Given the description of an element on the screen output the (x, y) to click on. 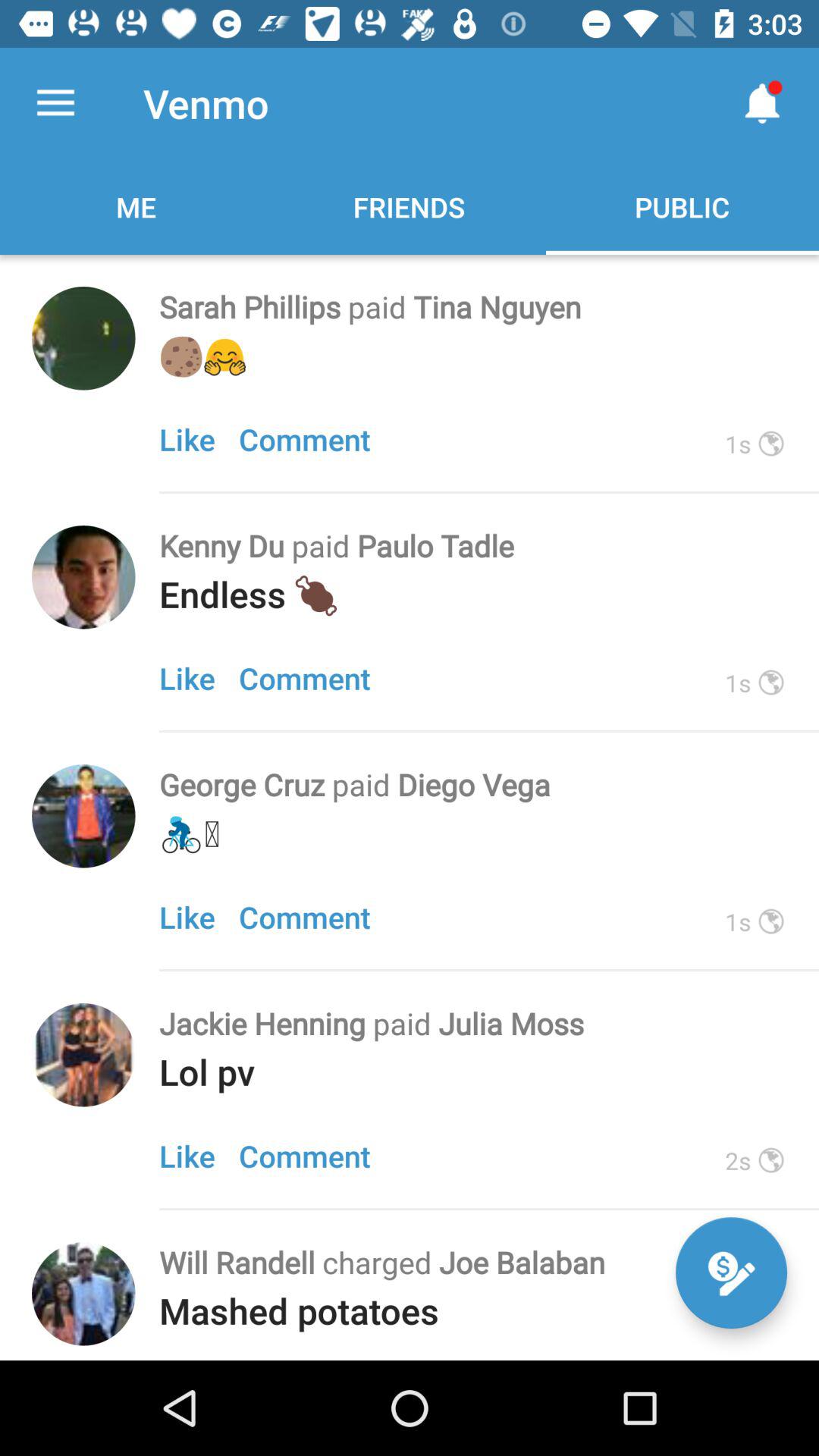
set profile picture (83, 338)
